Given the description of an element on the screen output the (x, y) to click on. 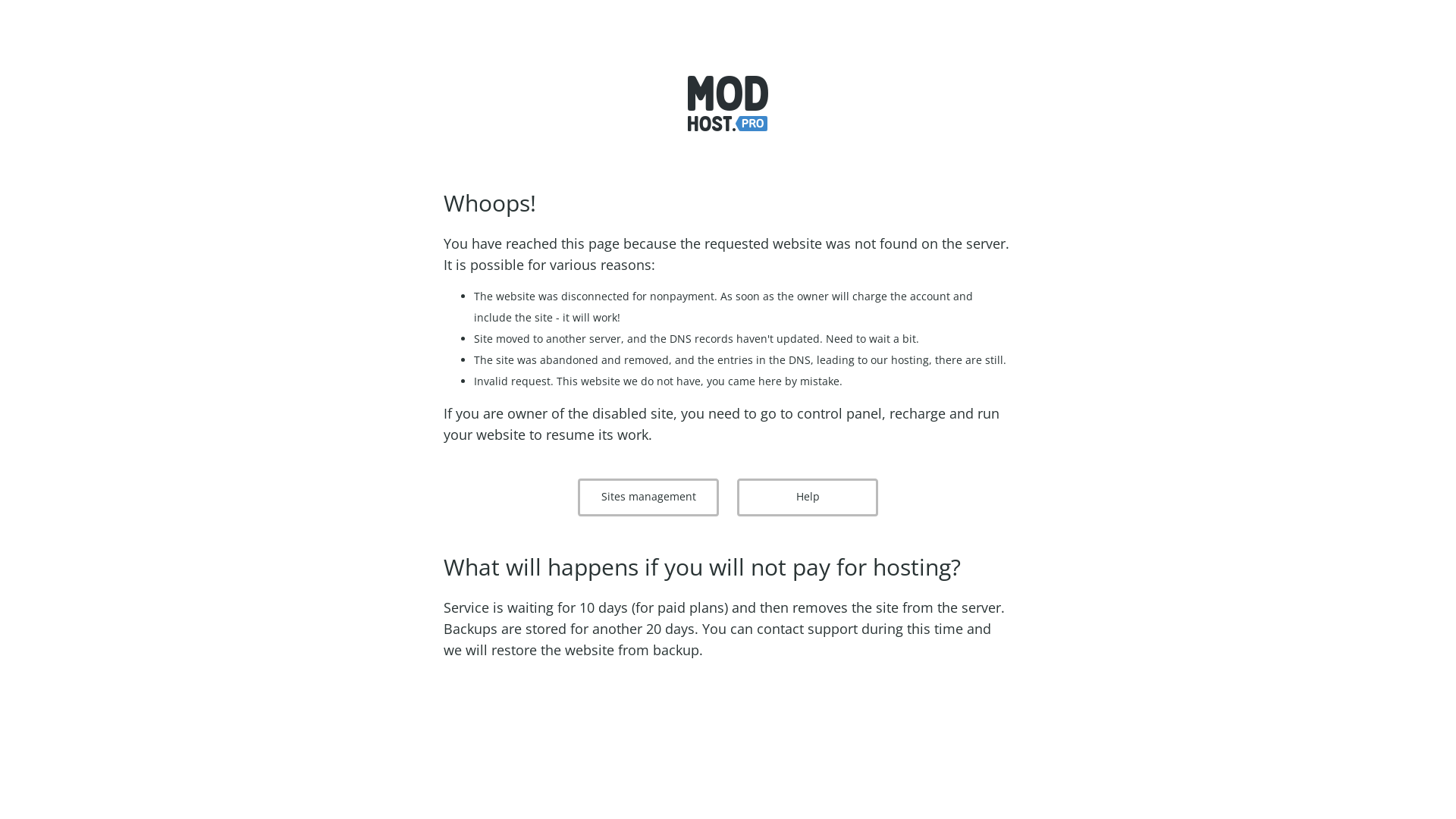
Sites management Element type: text (647, 497)
Help Element type: text (807, 497)
